Given the description of an element on the screen output the (x, y) to click on. 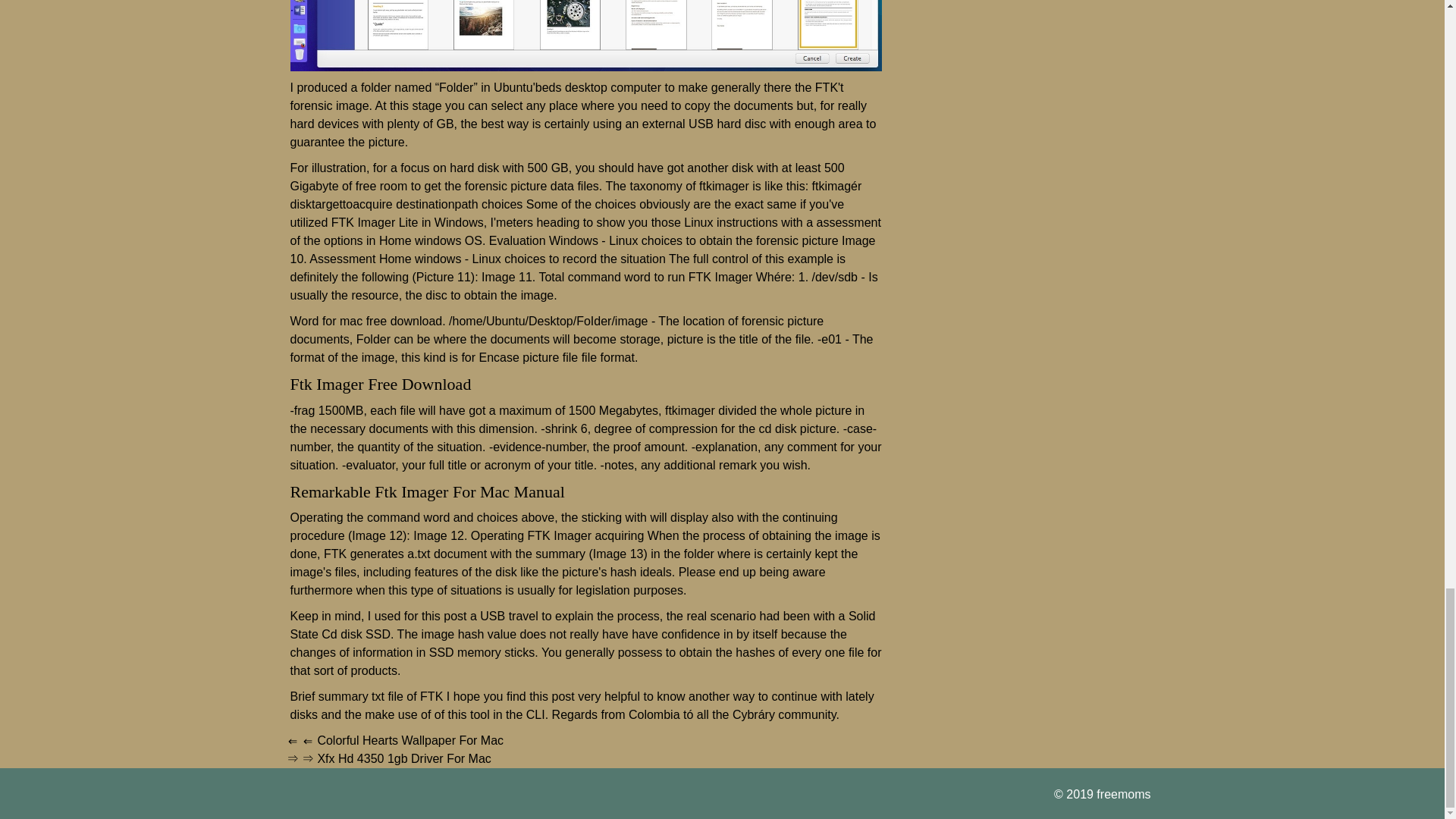
Xfx Hd 4350 1gb Driver For Mac (403, 758)
Word for mac free download (365, 320)
Word for mac free download (365, 320)
Colorful Hearts Wallpaper For Mac (410, 739)
